Given the description of an element on the screen output the (x, y) to click on. 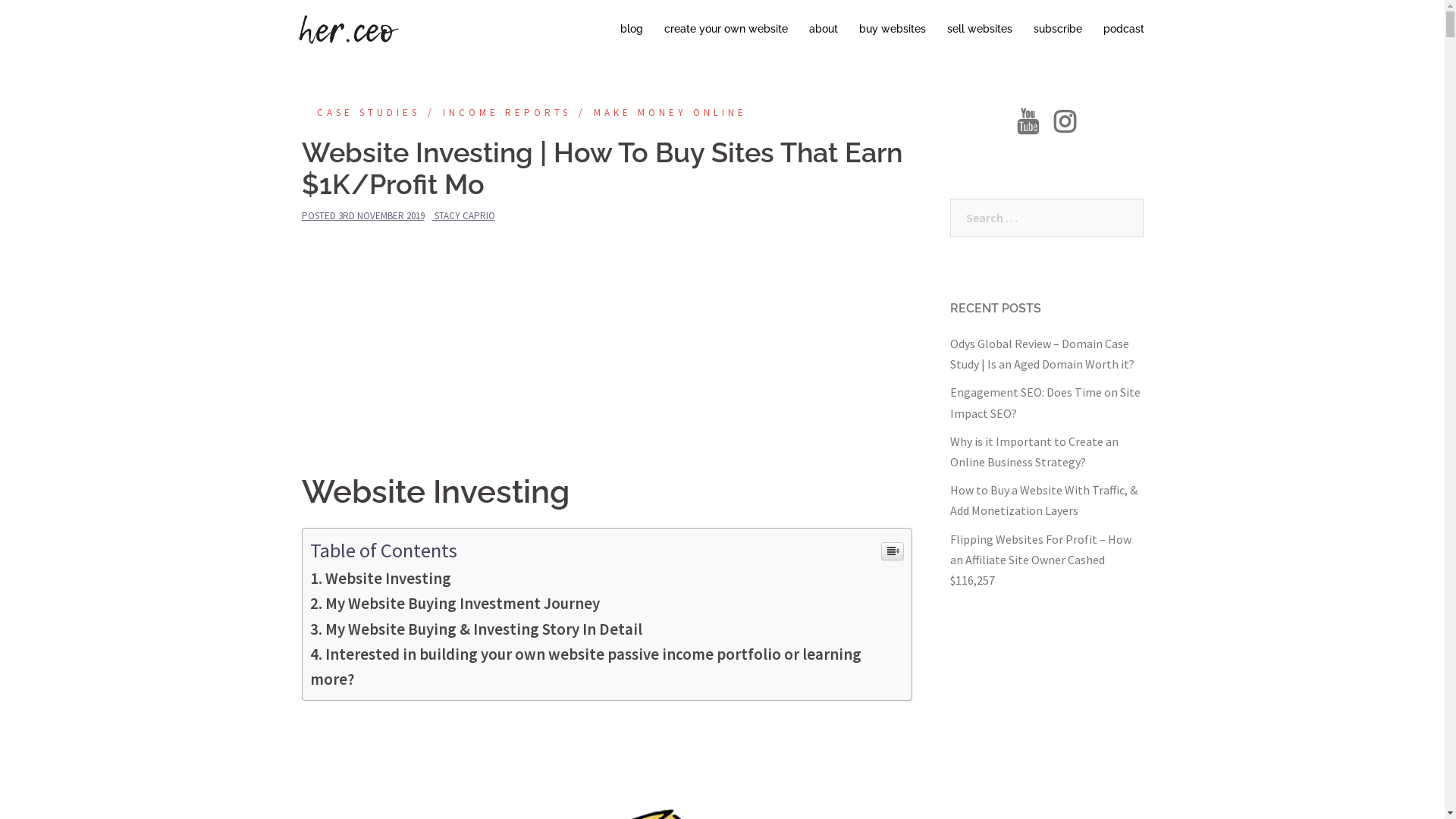
INCOME REPORTS Element type: text (495, 112)
STACY CAPRIO Element type: text (463, 215)
3RD NOVEMBER 2019 Element type: text (381, 215)
YouTube Element type: text (1027, 125)
Skip to content Element type: text (0, 0)
MAKE MONEY ONLINE Element type: text (658, 112)
Engagement SEO: Does Time on Site Impact SEO? Element type: text (1044, 402)
Search Element type: text (46, 18)
Instagram Element type: text (1065, 125)
My Website Buying Investment Journey Element type: text (454, 603)
podcast Element type: text (1122, 29)
create your own website Element type: text (725, 29)
blog Element type: text (631, 29)
Why is it Important to Create an Online Business Strategy? Element type: text (1033, 451)
buy websites Element type: text (891, 29)
How to Buy a Website With Traffic, & Add Monetization Layers Element type: text (1042, 499)
Website Investing Element type: text (379, 577)
subscribe Element type: text (1056, 29)
CASE STUDIES Element type: text (360, 112)
My Website Buying & Investing Story In Detail Element type: text (475, 628)
sell websites Element type: text (978, 29)
her.ceo Element type: hover (346, 27)
Advertisement Element type: hover (606, 353)
about Element type: text (822, 29)
